Given the description of an element on the screen output the (x, y) to click on. 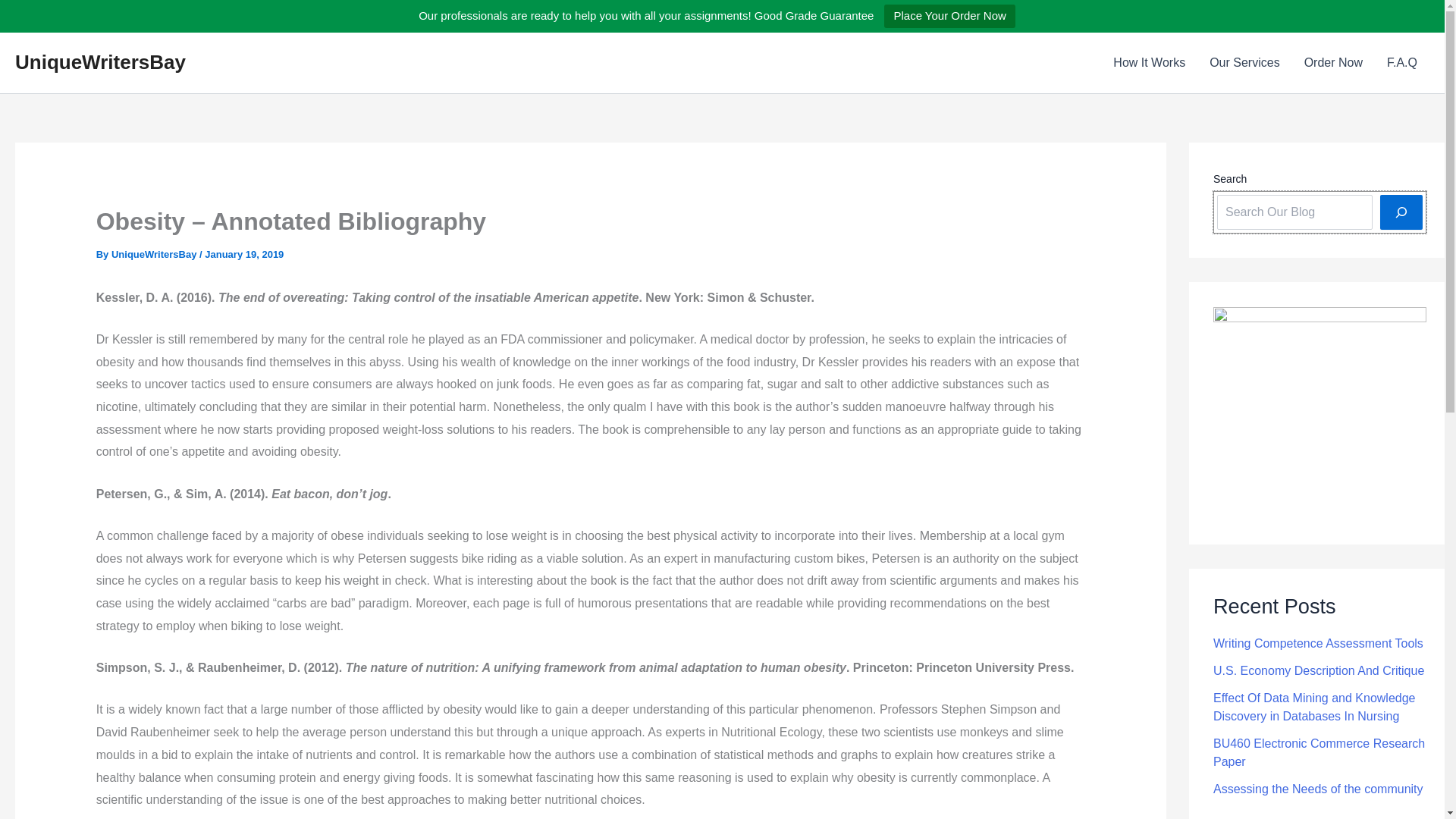
Place Your Order Now (948, 15)
View all posts by UniqueWritersBay (155, 254)
Order Now (1333, 62)
UniqueWritersBay (100, 61)
F.A.Q (1401, 62)
Assessing the Needs of the community (1317, 788)
Writing Competence Assessment Tools (1317, 643)
BU460 Electronic Commerce Research Paper (1318, 752)
U.S. Economy Description And Critique (1317, 670)
Our Services (1243, 62)
UniqueWritersBay (155, 254)
How It Works (1148, 62)
